Given the description of an element on the screen output the (x, y) to click on. 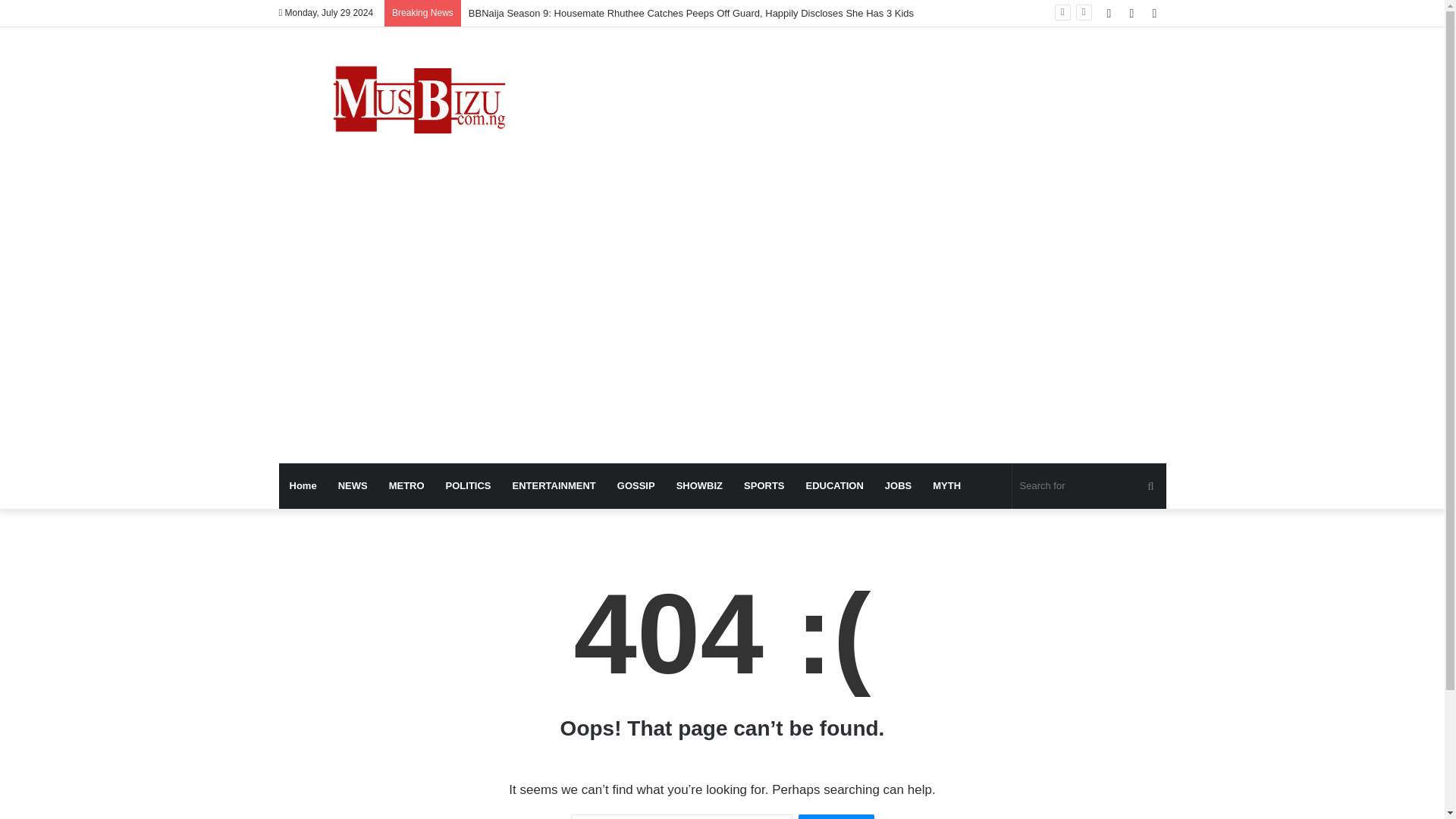
ENTERTAINMENT (554, 485)
Home (303, 485)
Search (835, 816)
GOSSIP (636, 485)
JOBS (898, 485)
POLITICS (468, 485)
METRO (406, 485)
SPORTS (763, 485)
My Blog (419, 103)
Search for (1088, 485)
EDUCATION (834, 485)
SHOWBIZ (699, 485)
Search (835, 816)
